Given the description of an element on the screen output the (x, y) to click on. 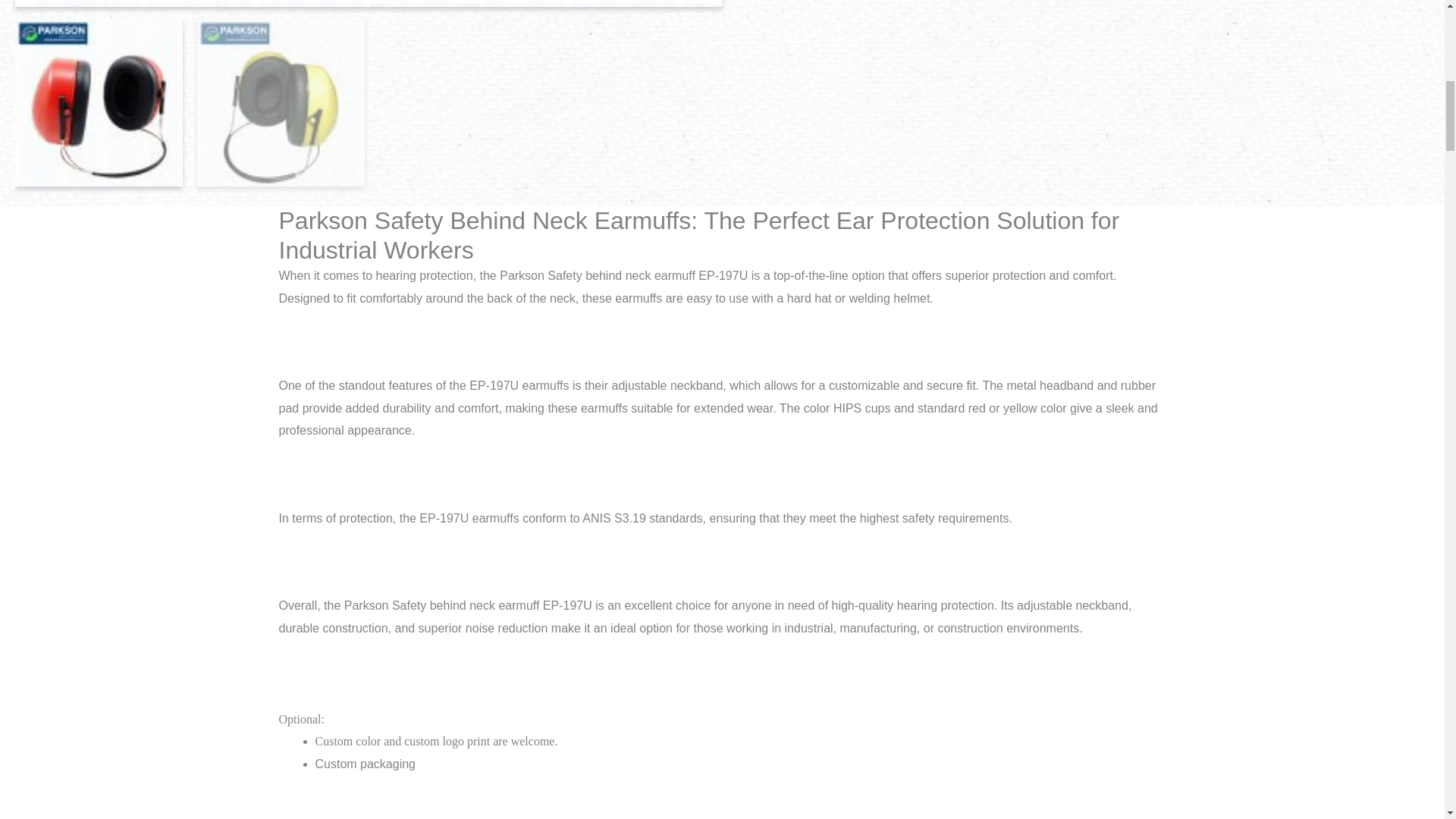
Parkson Safety Behind neck earmuff EP-197U (680, 3)
Behind neck earmuff EP-197U (236, 3)
